Given the description of an element on the screen output the (x, y) to click on. 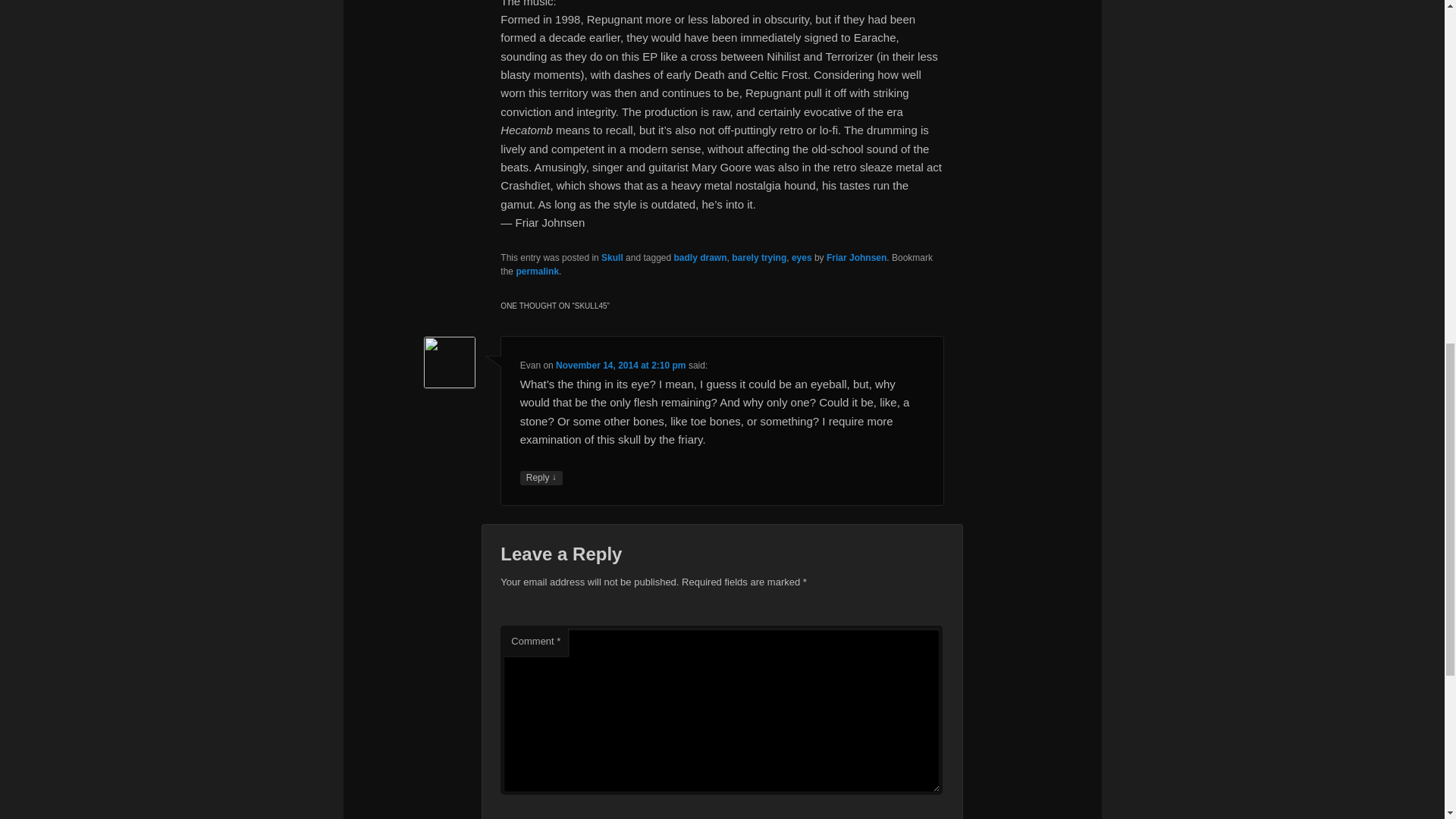
Skull (612, 257)
eyes (802, 257)
badly drawn (700, 257)
Friar Johnsen (856, 257)
Permalink to SKULL45 (537, 271)
November 14, 2014 at 2:10 pm (620, 365)
permalink (537, 271)
barely trying (759, 257)
